Given the description of an element on the screen output the (x, y) to click on. 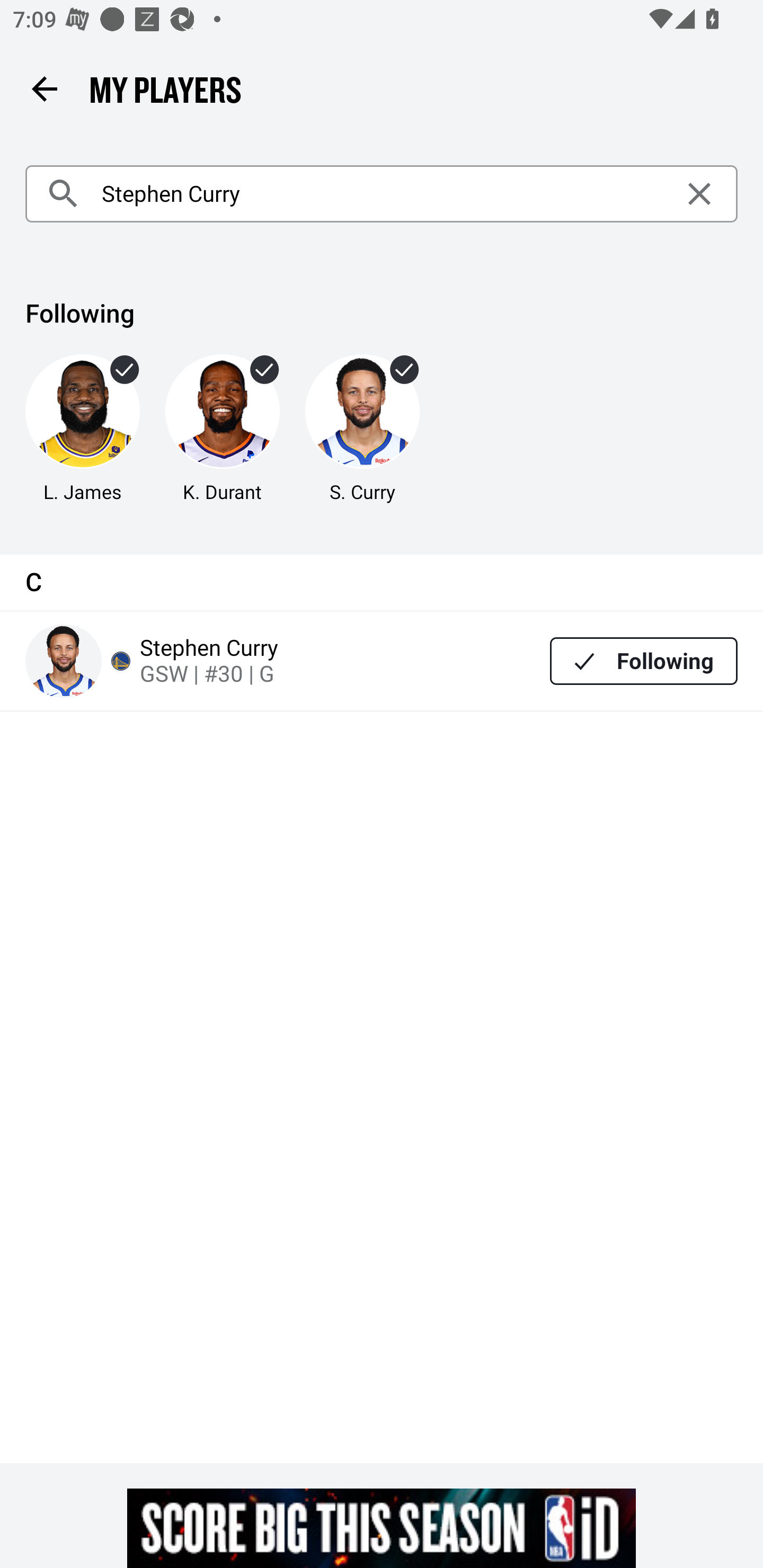
Back button (44, 88)
Stephen Curry (381, 193)
Following (643, 660)
g5nqqygr7owph (381, 1528)
